Given the description of an element on the screen output the (x, y) to click on. 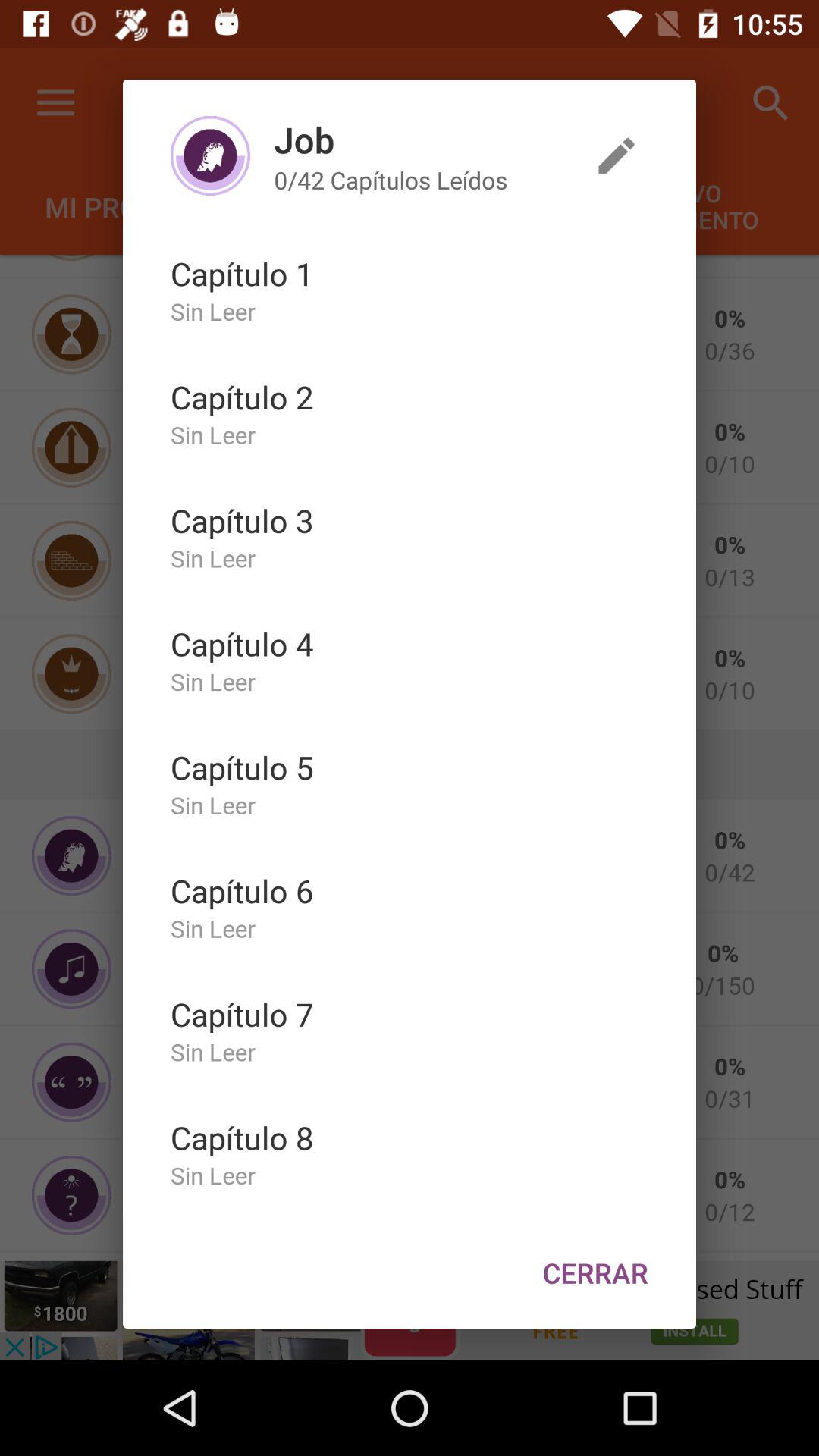
click to enter text (616, 155)
